Given the description of an element on the screen output the (x, y) to click on. 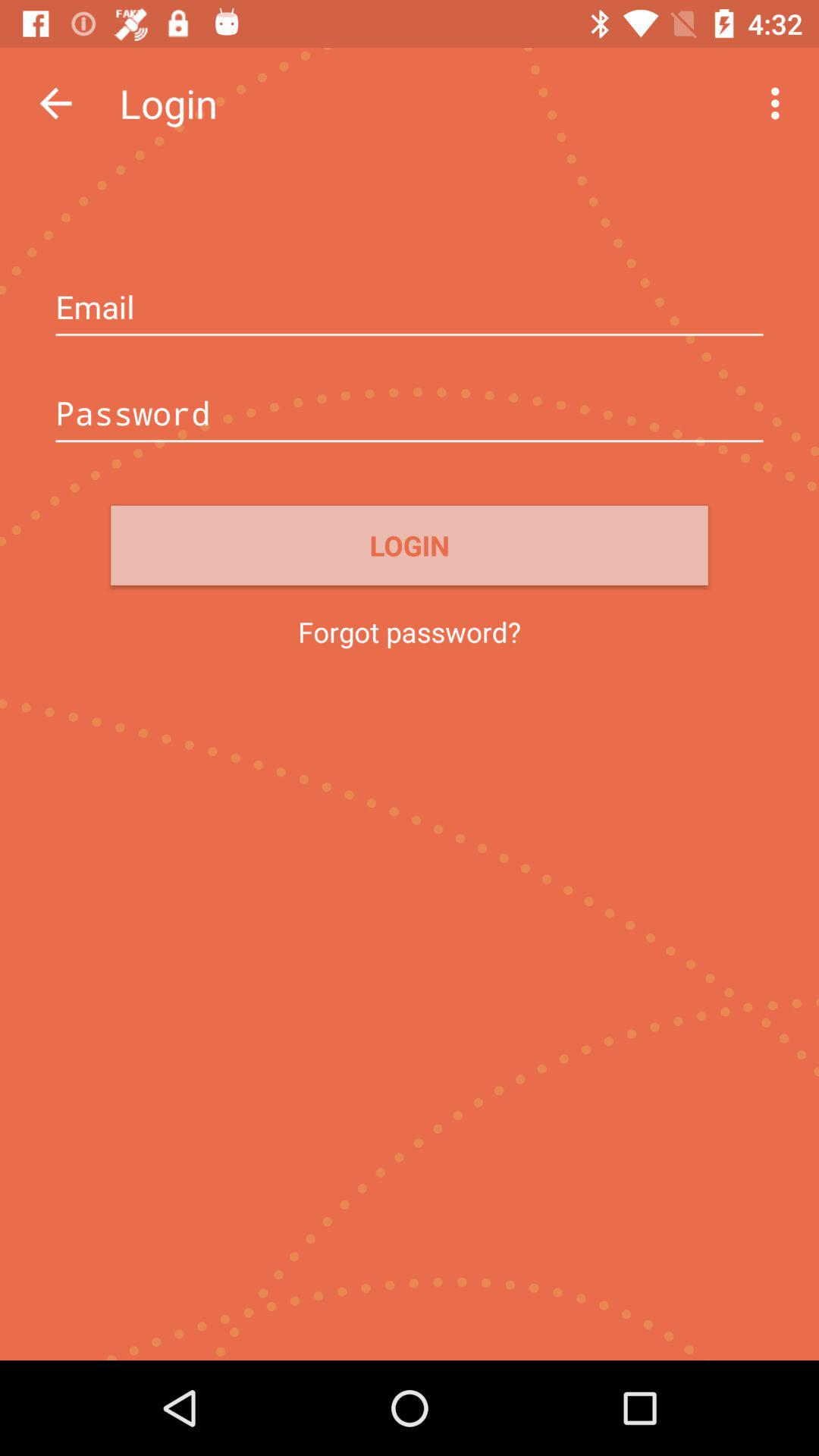
enter email (409, 308)
